Given the description of an element on the screen output the (x, y) to click on. 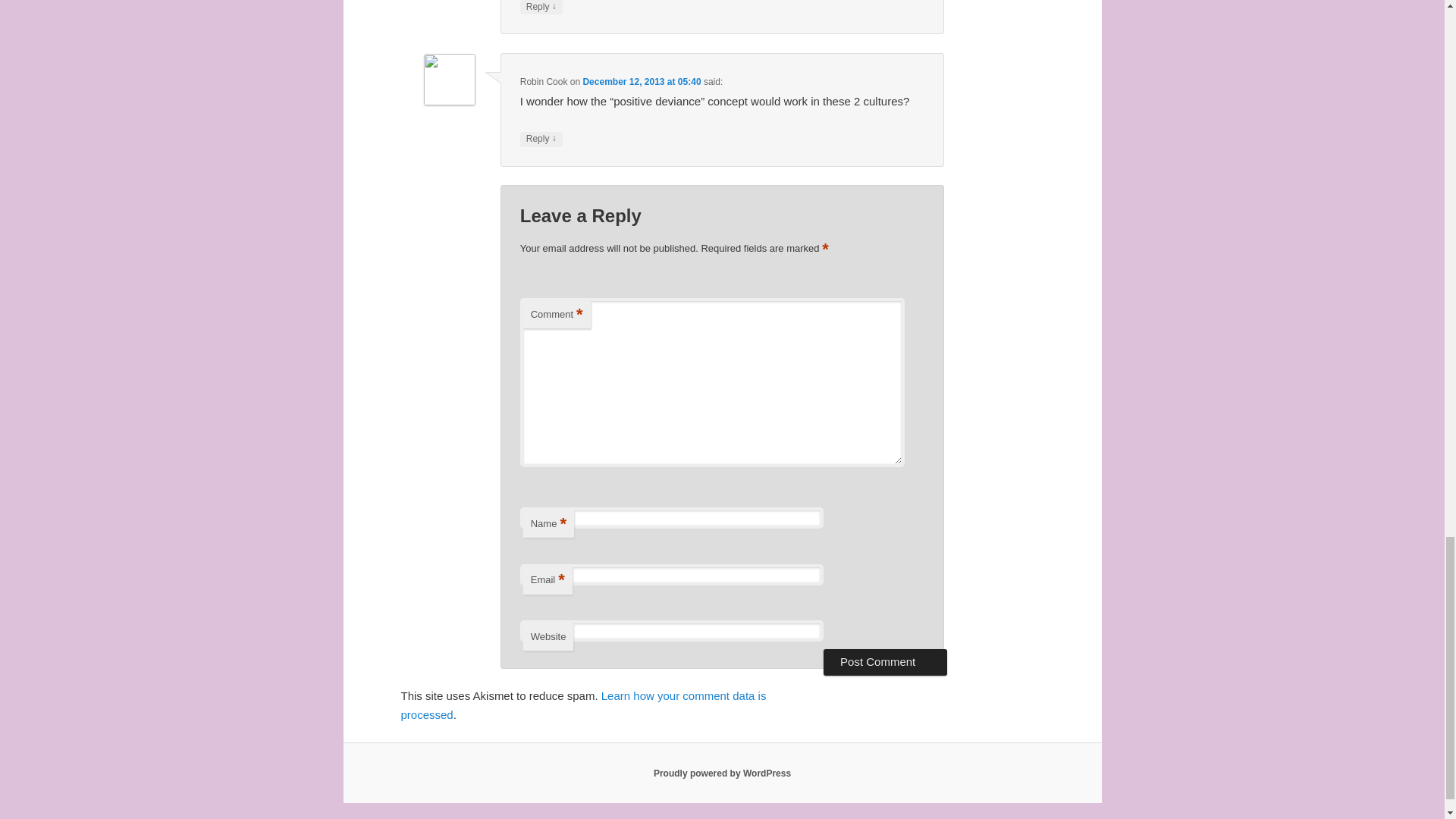
Proudly powered by WordPress (721, 773)
Post Comment (885, 661)
Post Comment (885, 661)
Semantic Personal Publishing Platform (721, 773)
Learn how your comment data is processed (582, 704)
December 12, 2013 at 05:40 (641, 81)
